Given the description of an element on the screen output the (x, y) to click on. 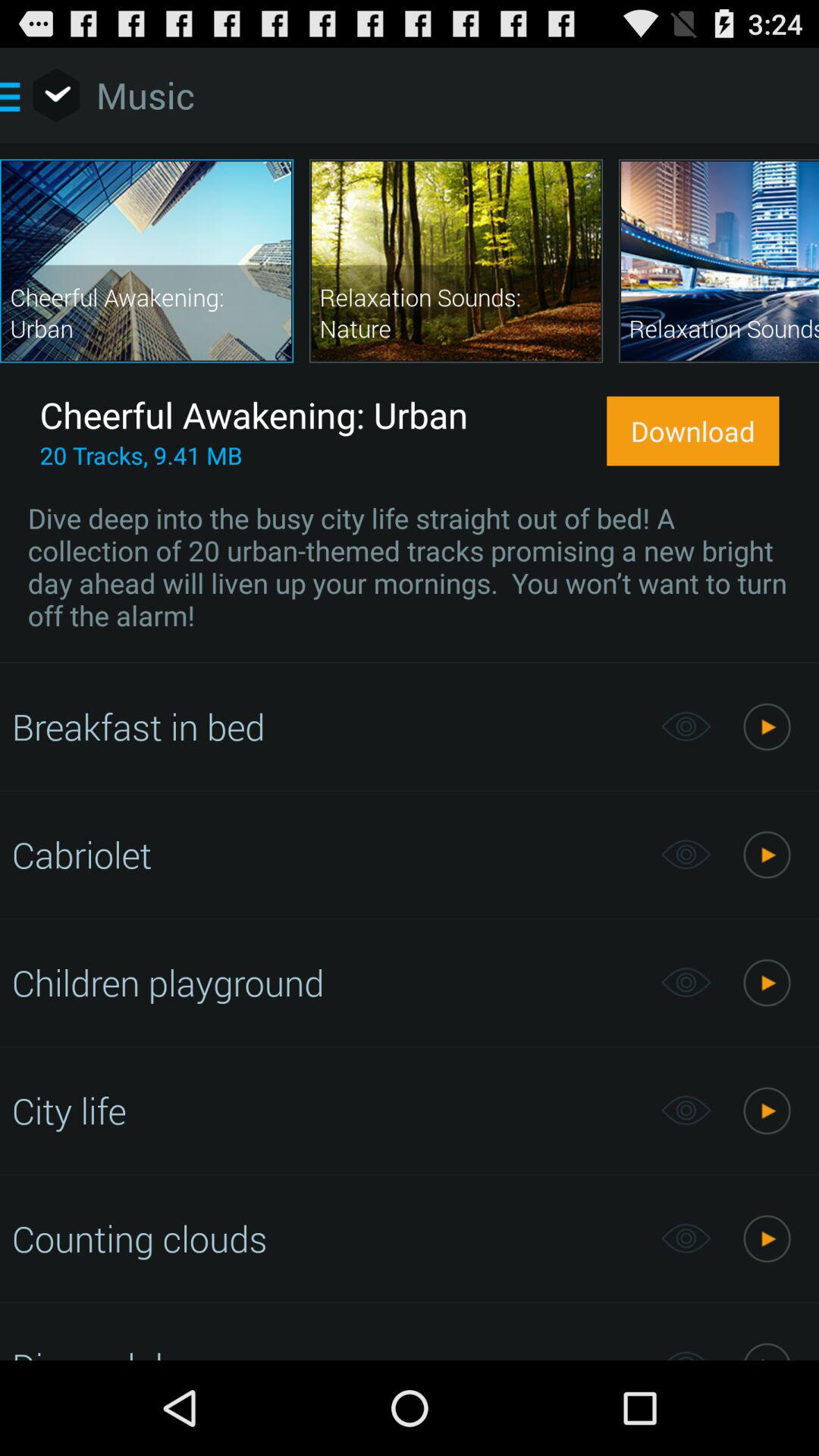
tap the app above the city life app (327, 982)
